Given the description of an element on the screen output the (x, y) to click on. 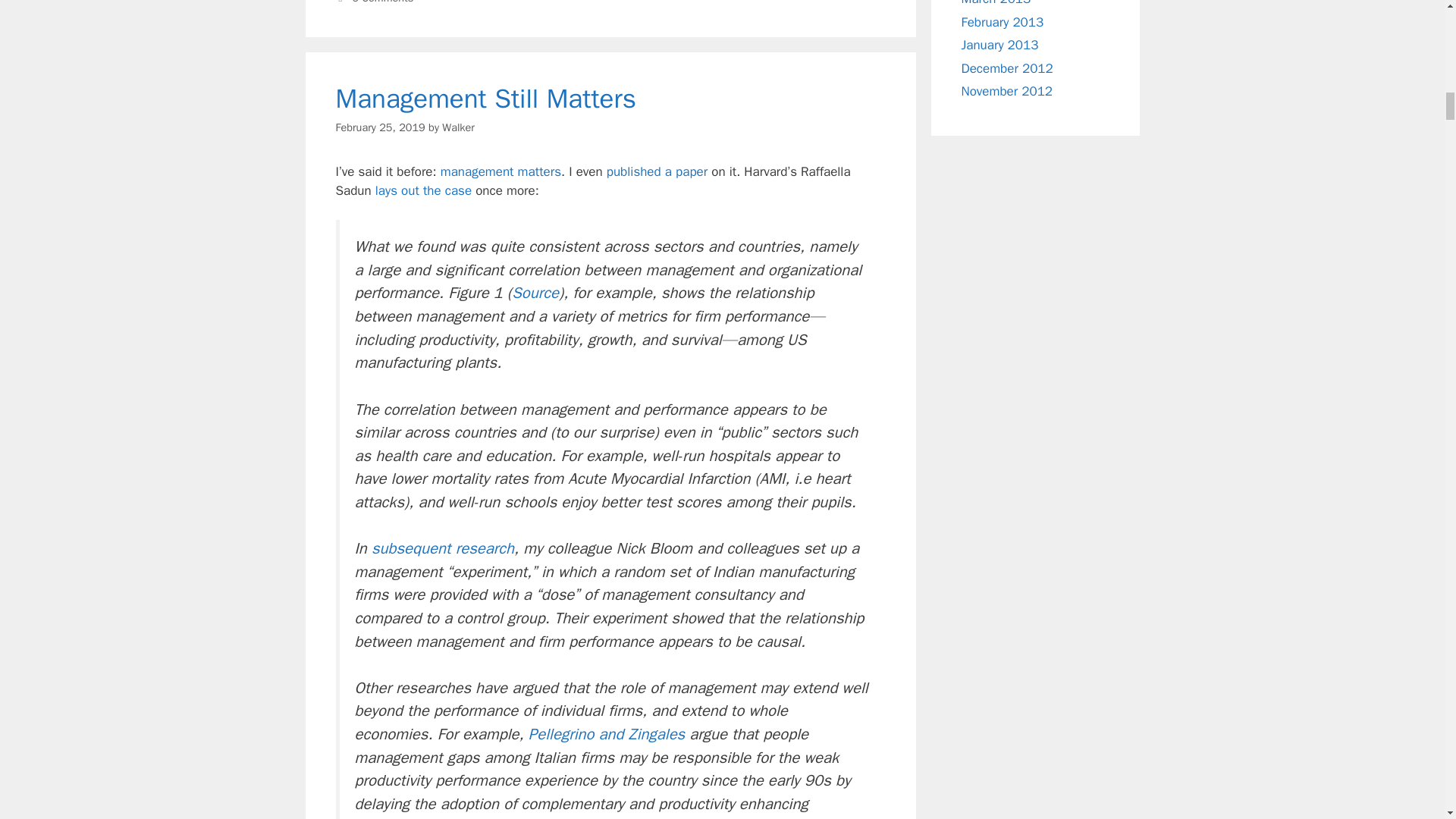
subsequent research (442, 547)
published a paper (657, 171)
matters (539, 171)
lays out the case (423, 190)
Pellegrino and Zingales (606, 733)
Management Still Matters (484, 98)
View all posts by Walker (458, 127)
management (477, 171)
Walker (458, 127)
6 Comments (382, 2)
